Given the description of an element on the screen output the (x, y) to click on. 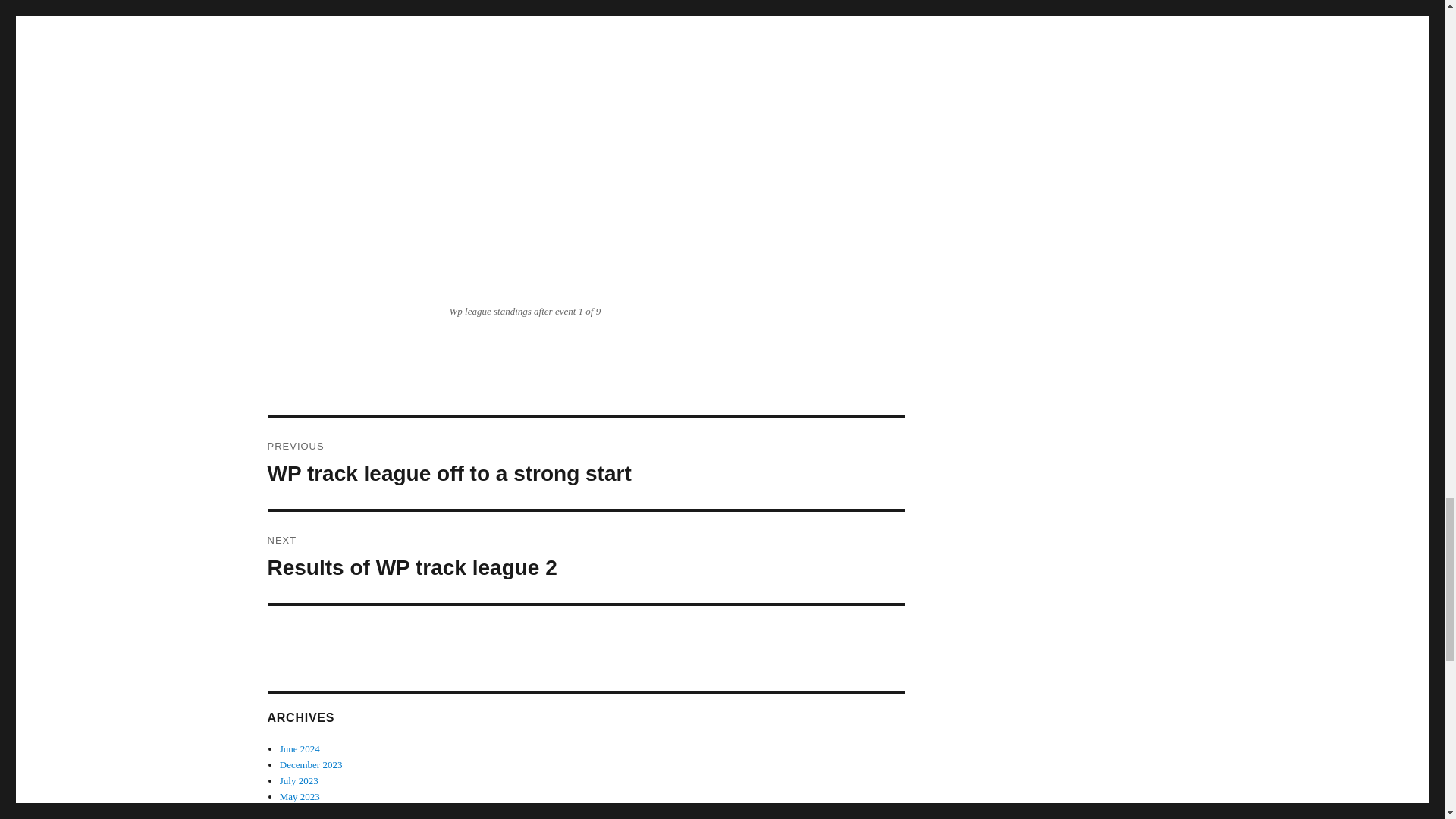
December 2023 (310, 764)
July 2023 (298, 780)
June 2024 (299, 748)
March 2023 (585, 556)
May 2023 (303, 812)
